Given the description of an element on the screen output the (x, y) to click on. 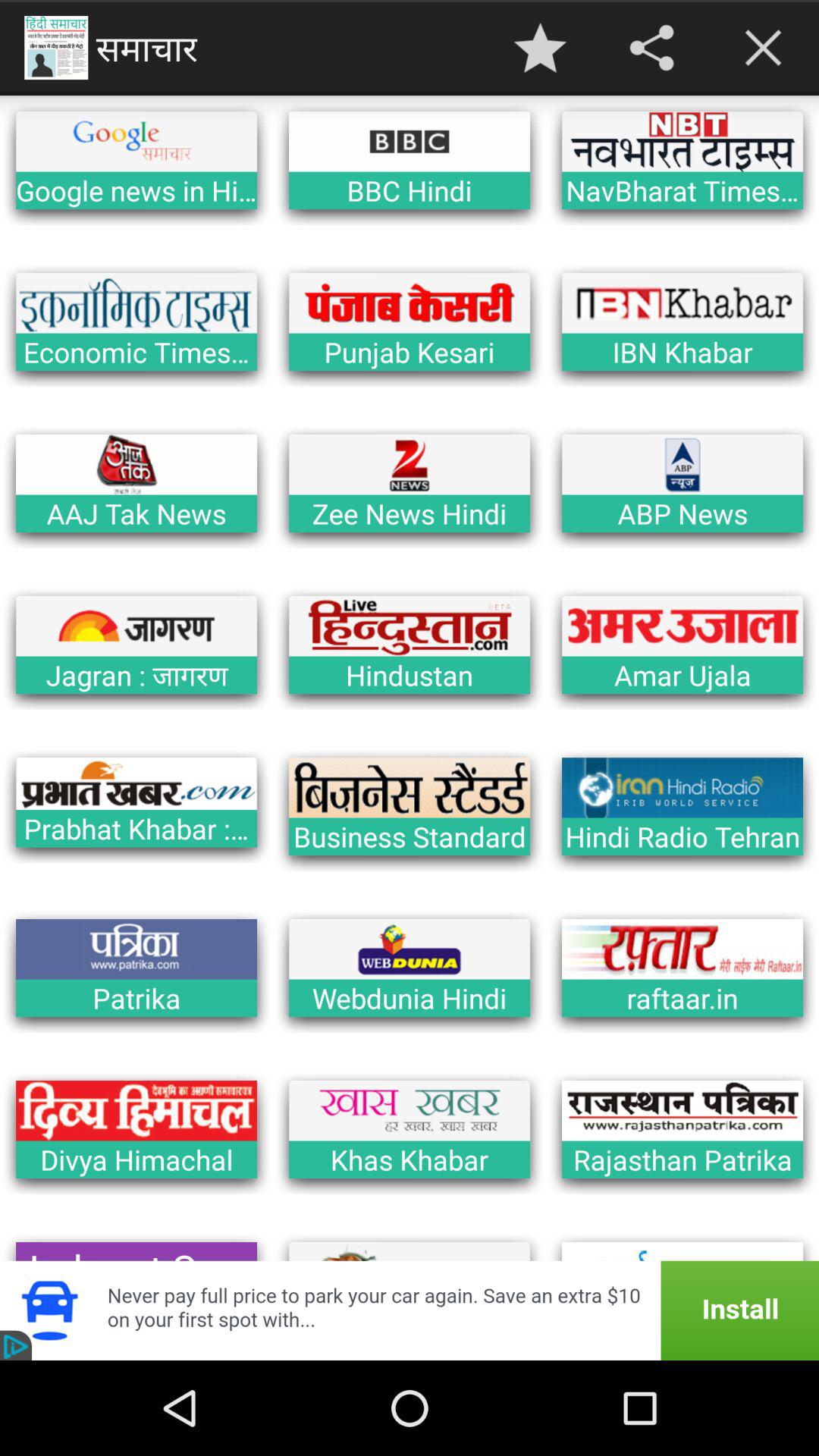
go to the image above raftaarin (682, 948)
